Given the description of an element on the screen output the (x, y) to click on. 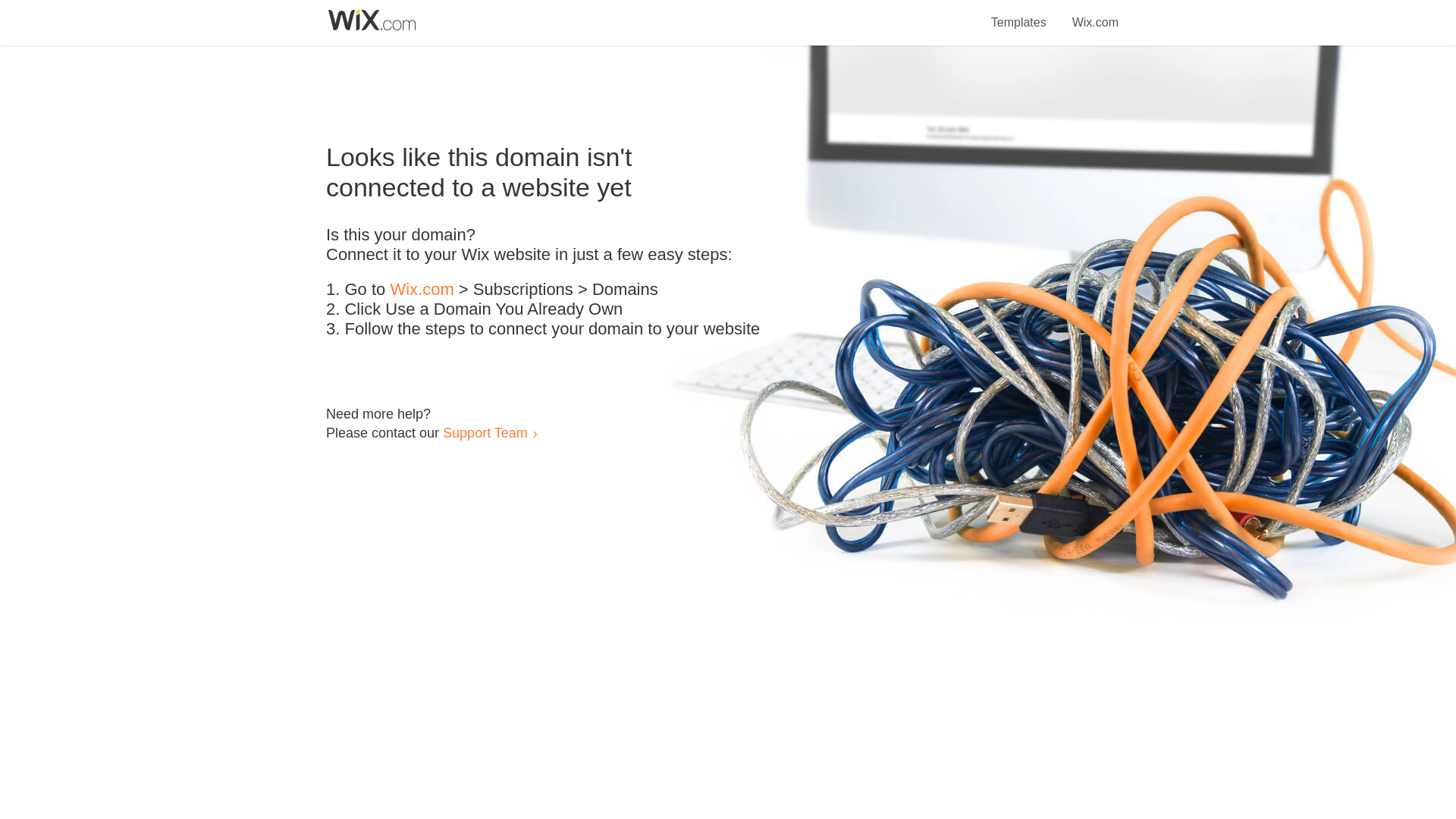
Templates (1018, 14)
Wix.com (1095, 14)
Support Team (484, 432)
Wix.com (421, 289)
